Given the description of an element on the screen output the (x, y) to click on. 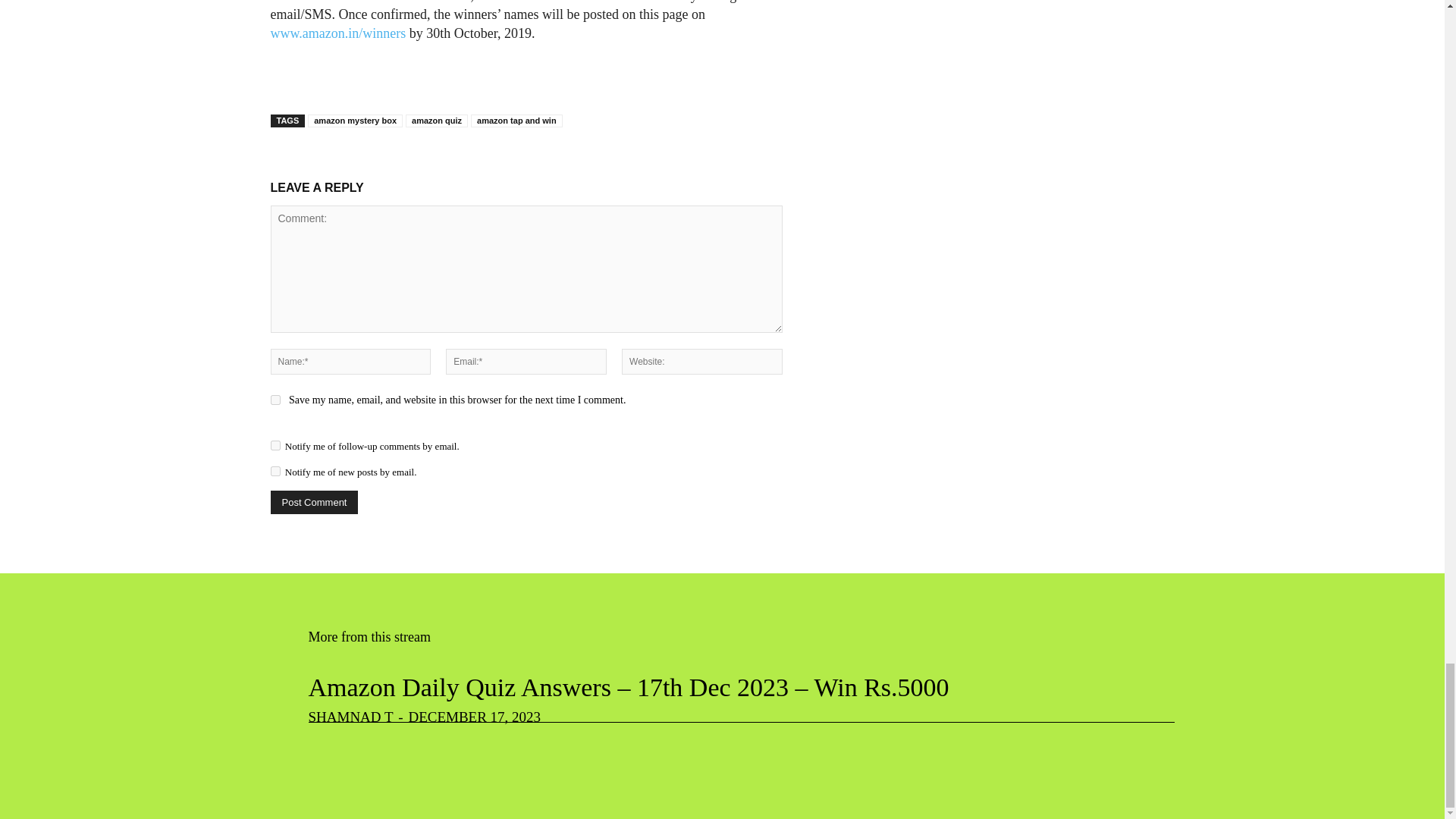
Post Comment (313, 502)
yes (274, 399)
subscribe (274, 470)
subscribe (274, 445)
